Given the description of an element on the screen output the (x, y) to click on. 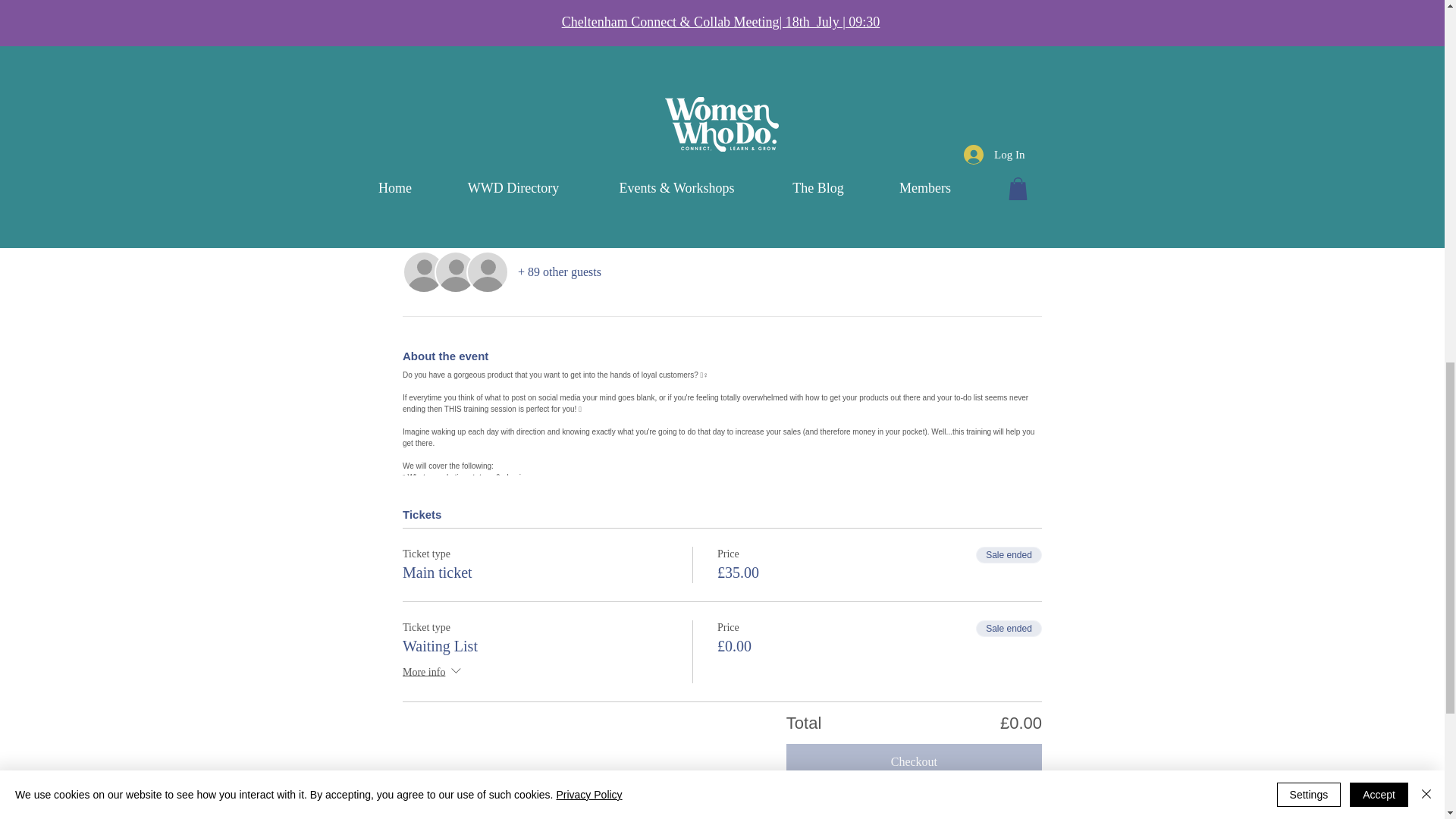
Checkout (914, 761)
More info (433, 672)
